Given the description of an element on the screen output the (x, y) to click on. 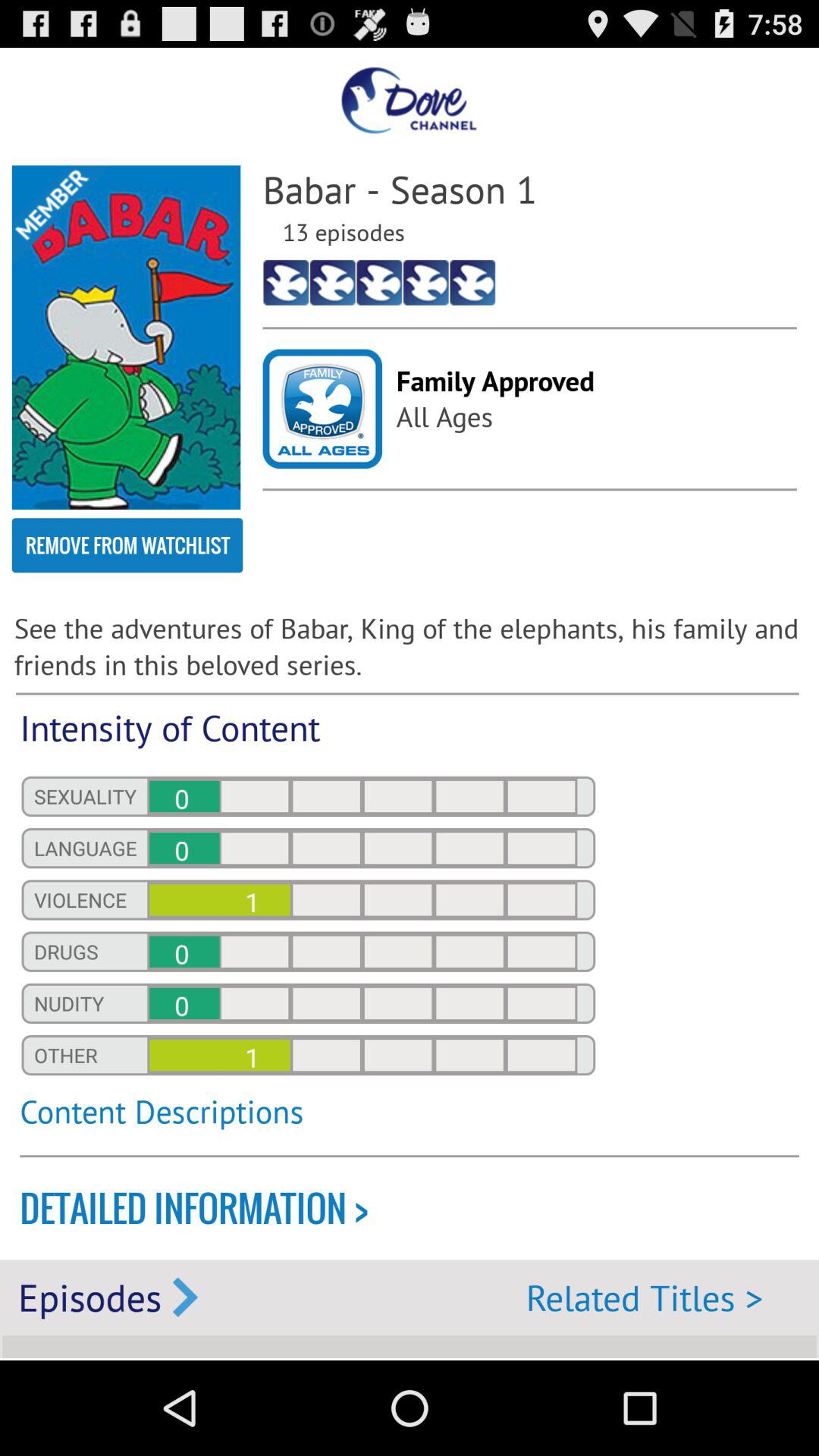
choose icon above remove from watchlist app (125, 337)
